Given the description of an element on the screen output the (x, y) to click on. 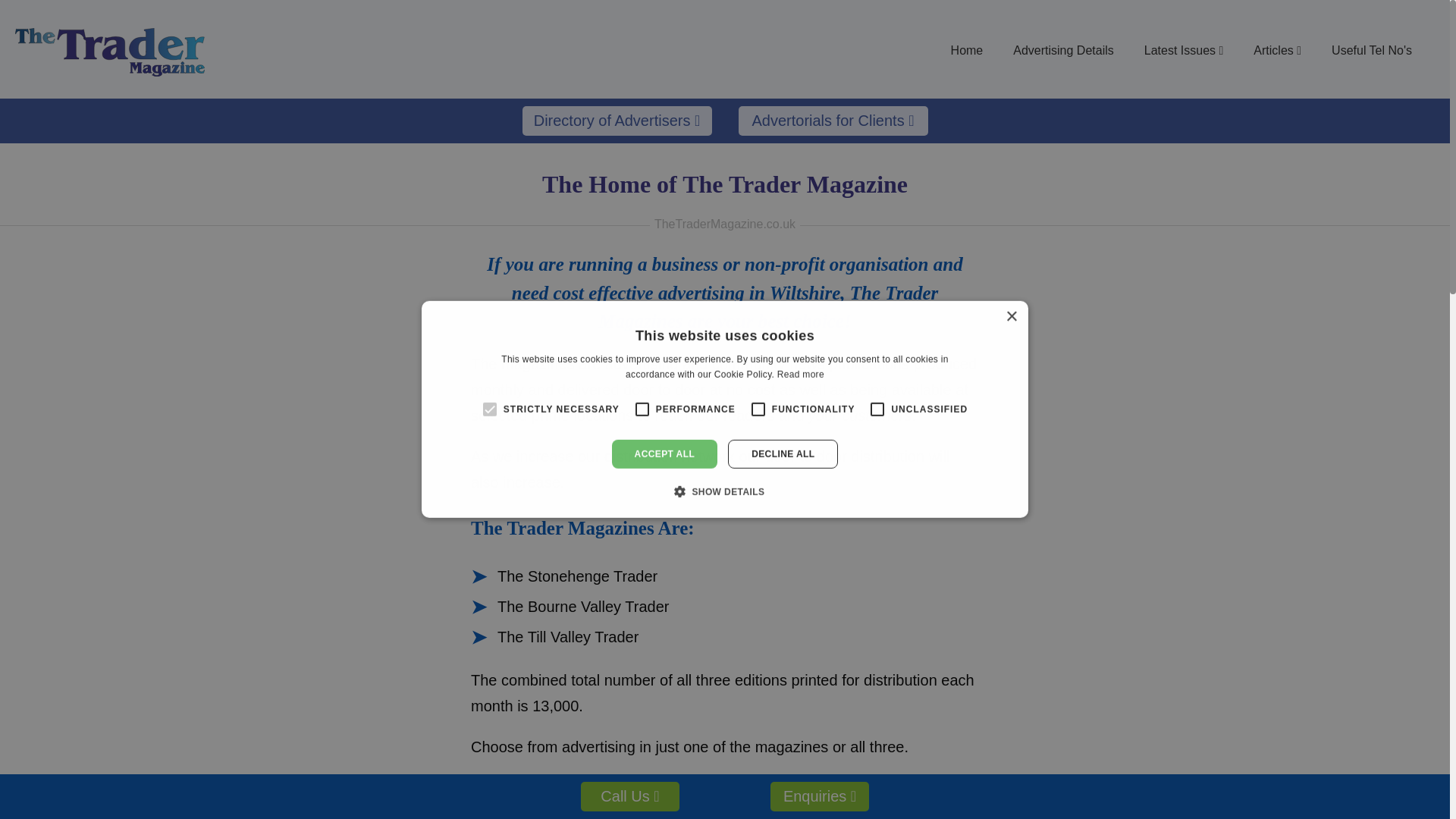
Directory of Advertisers (616, 120)
Advertorials for Clients (833, 121)
Latest Issues (1184, 50)
Advertorials for Clients (833, 120)
Advertising Details (1063, 50)
Useful Tel No's (1371, 50)
Directory of Advertisers (616, 121)
Home (967, 50)
Articles (1277, 50)
